Given the description of an element on the screen output the (x, y) to click on. 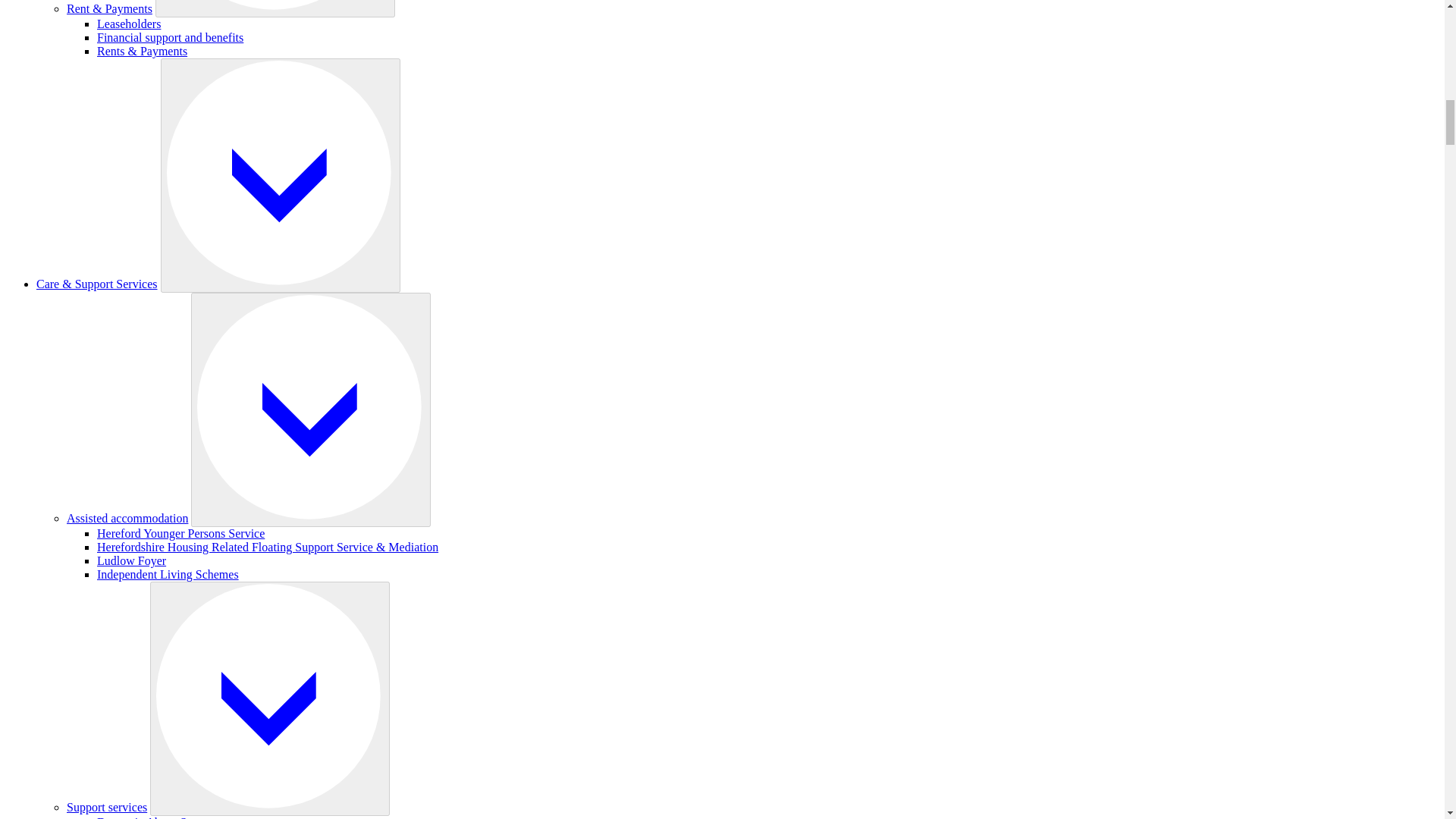
Leaseholders (128, 23)
Assisted accommodation (126, 517)
Financial support and benefits (170, 37)
